Given the description of an element on the screen output the (x, y) to click on. 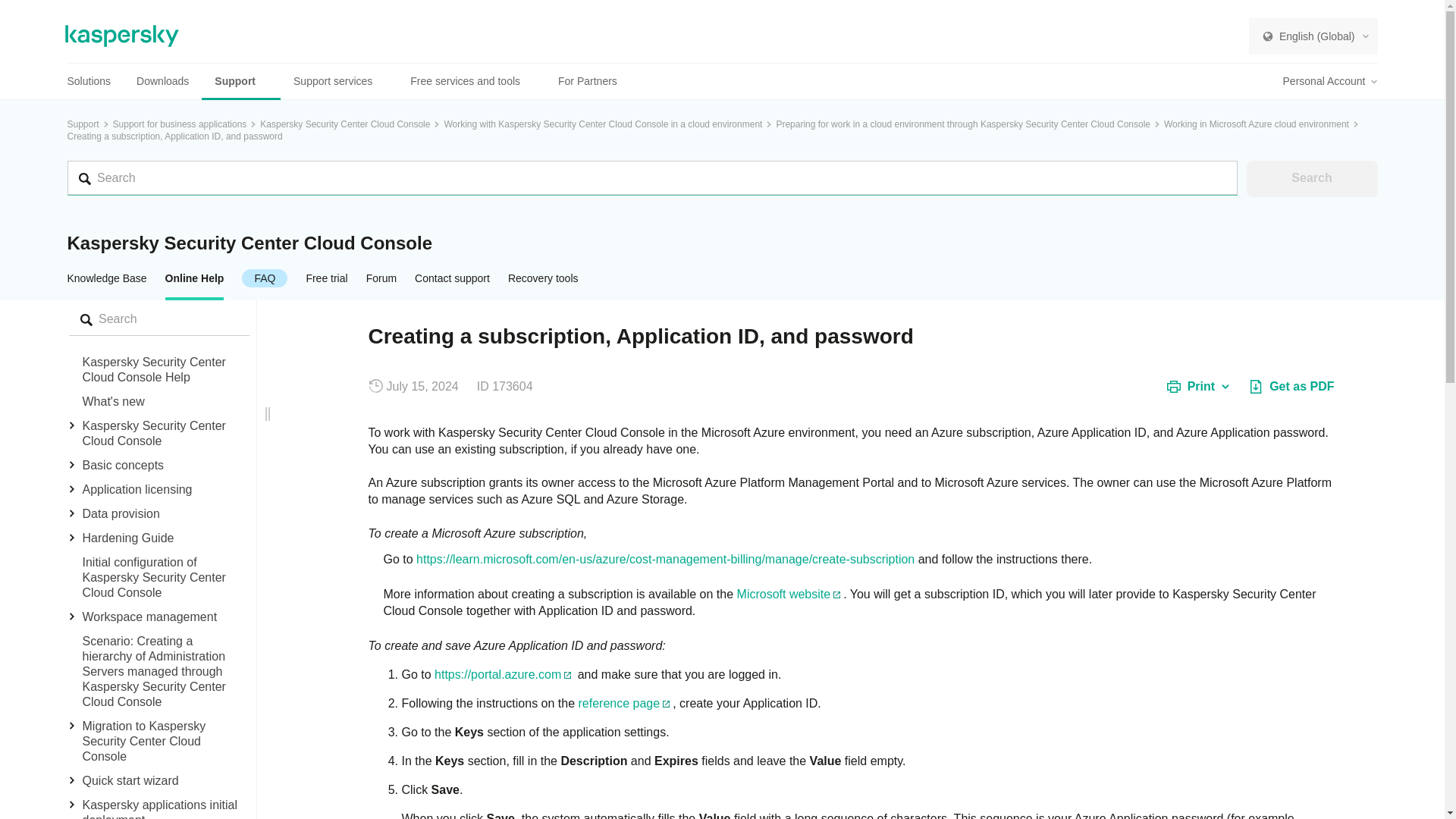
Downloads (162, 81)
Support (241, 81)
product-search (158, 318)
For Partners (587, 81)
Solutions (94, 81)
Free services and tools (470, 81)
Support services (339, 81)
Kaspersky (122, 37)
